Given the description of an element on the screen output the (x, y) to click on. 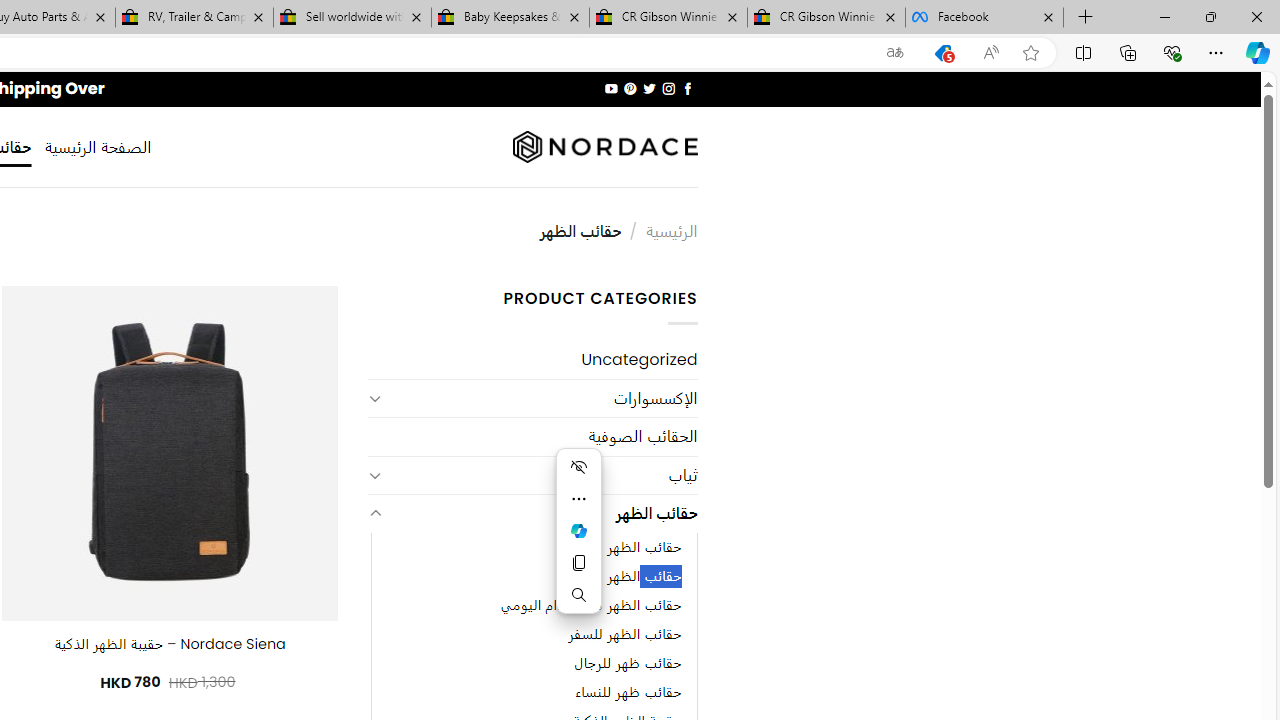
RV, Trailer & Camper Steps & Ladders for sale | eBay (194, 17)
Mini menu on text selection (578, 542)
